Given the description of an element on the screen output the (x, y) to click on. 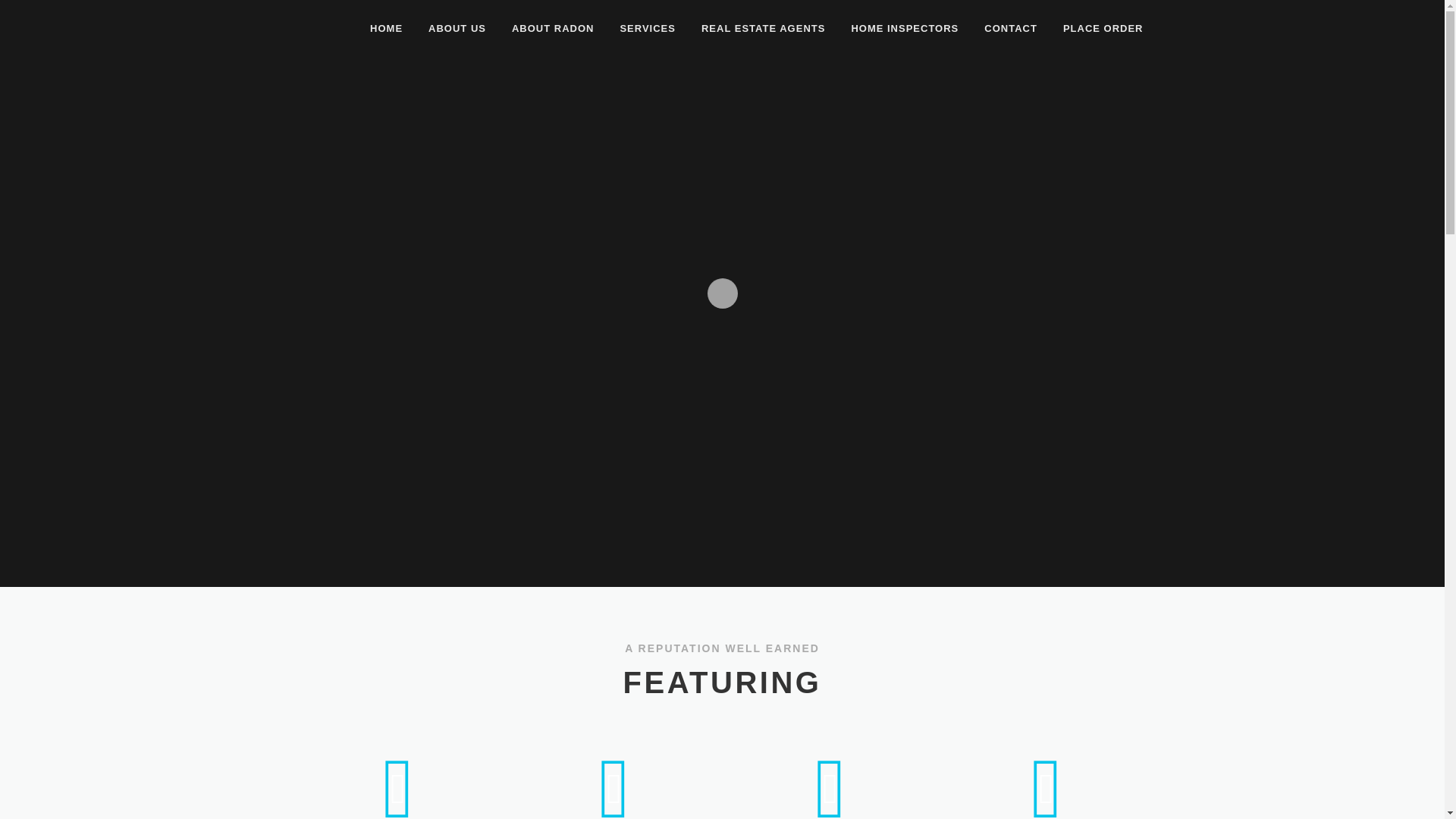
HOME INSPECTORS (904, 28)
PLACE ORDER (1095, 28)
ABOUT RADON (553, 28)
HOME (385, 28)
REAL ESTATE AGENTS (763, 28)
CONTACT (1010, 28)
ABOUT US (456, 28)
SERVICES (647, 28)
